Given the description of an element on the screen output the (x, y) to click on. 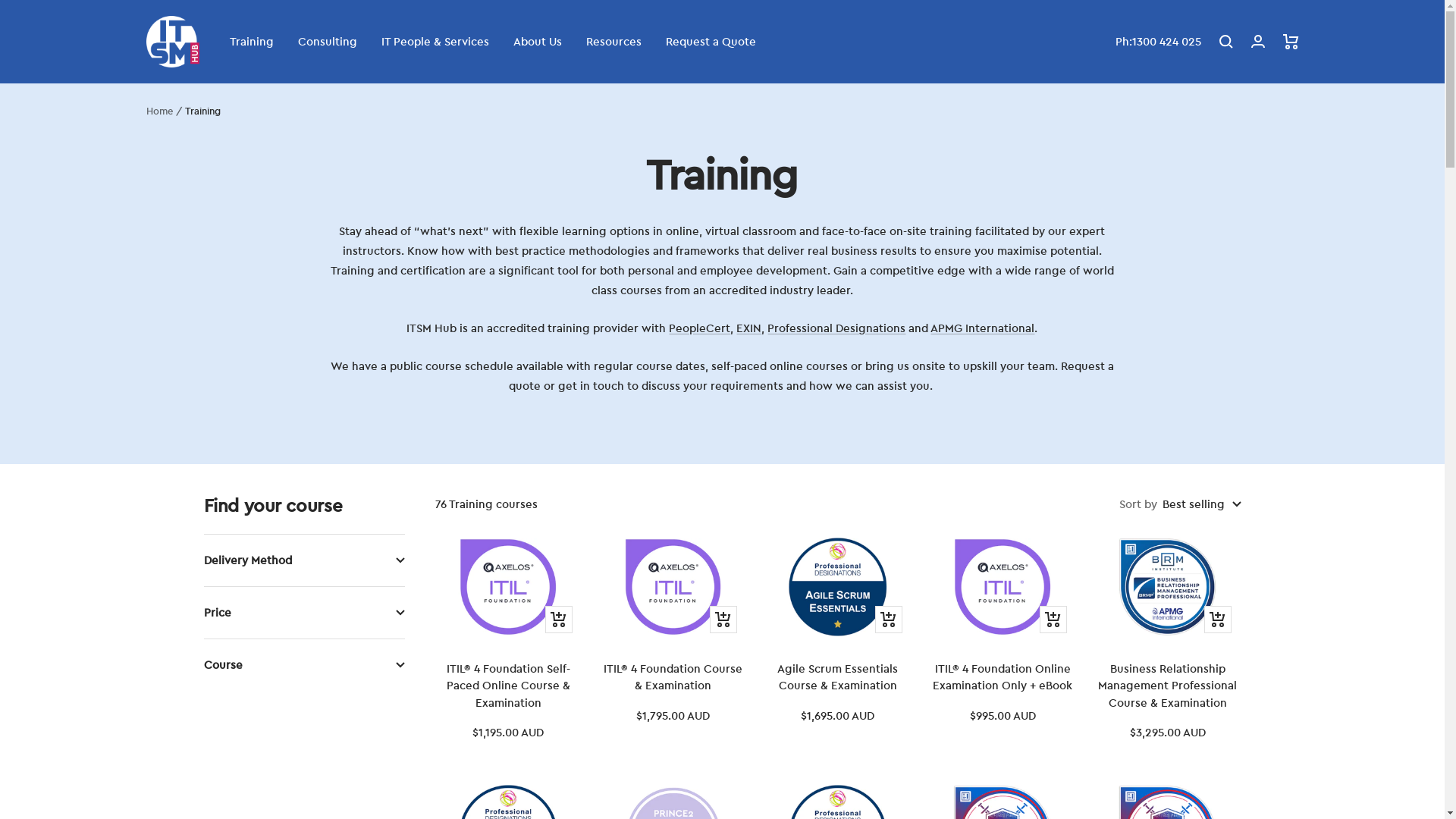
Request a Quote Element type: text (710, 41)
ITSM Hub Element type: text (171, 41)
View Element type: text (888, 619)
Agile Scrum Essentials Course & Examination Element type: text (837, 677)
Price Element type: text (303, 612)
Ph:1300 424 025 Element type: text (1157, 41)
PeopleCert Element type: text (699, 327)
Resources Element type: text (612, 41)
View Element type: text (558, 619)
Consulting Element type: text (326, 41)
Training Element type: text (251, 41)
EXIN Element type: text (748, 327)
Delivery Method Element type: text (303, 560)
View Element type: text (1052, 619)
IT People & Services Element type: text (434, 41)
View Element type: text (723, 619)
Best selling Element type: text (1200, 504)
Course Element type: text (303, 664)
About Us Element type: text (536, 41)
Home Element type: text (158, 110)
View Element type: text (1217, 619)
Professional Designations Element type: text (836, 327)
APMG International Element type: text (982, 327)
